Given the description of an element on the screen output the (x, y) to click on. 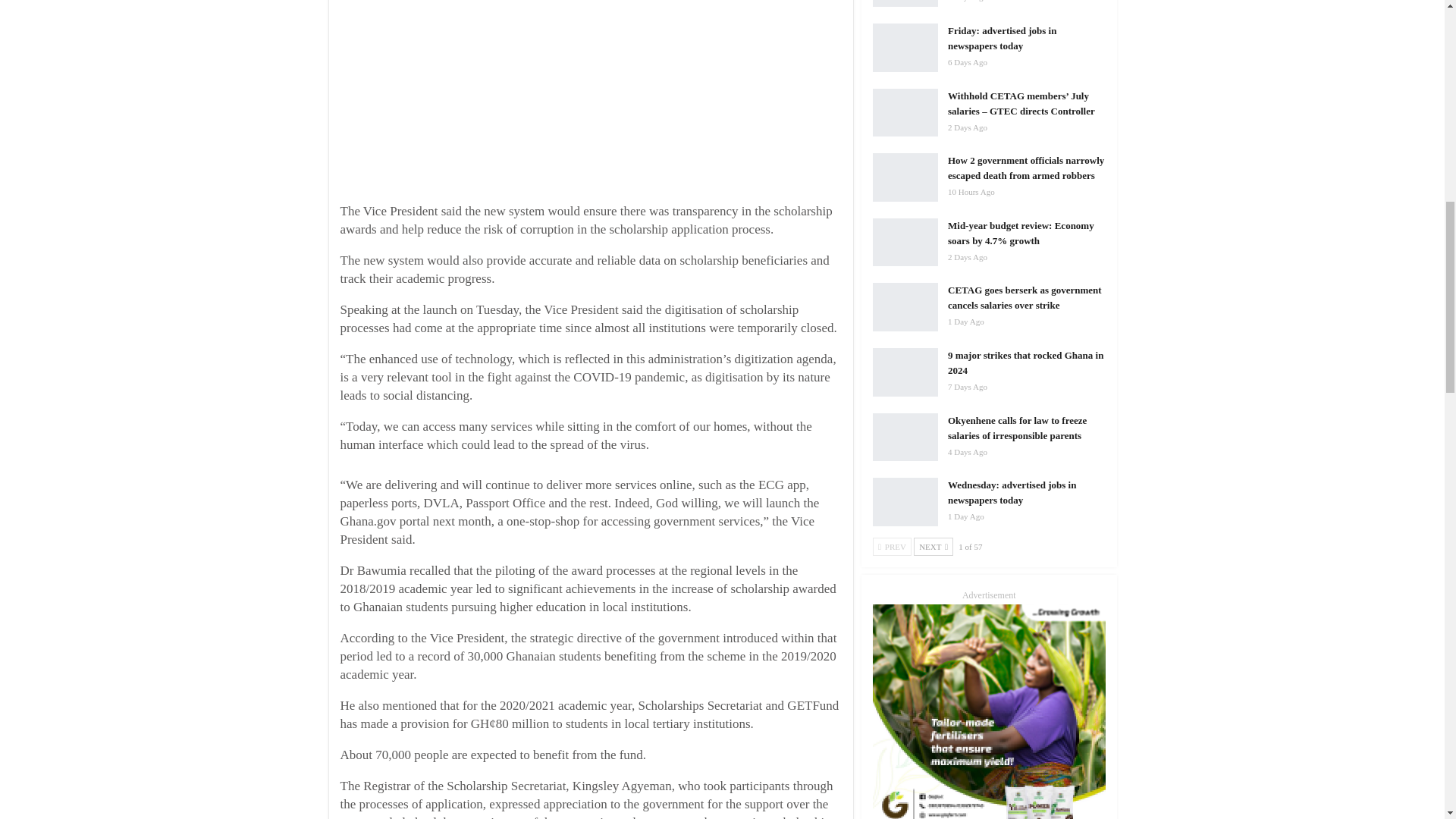
Advertisement (601, 96)
